Given the description of an element on the screen output the (x, y) to click on. 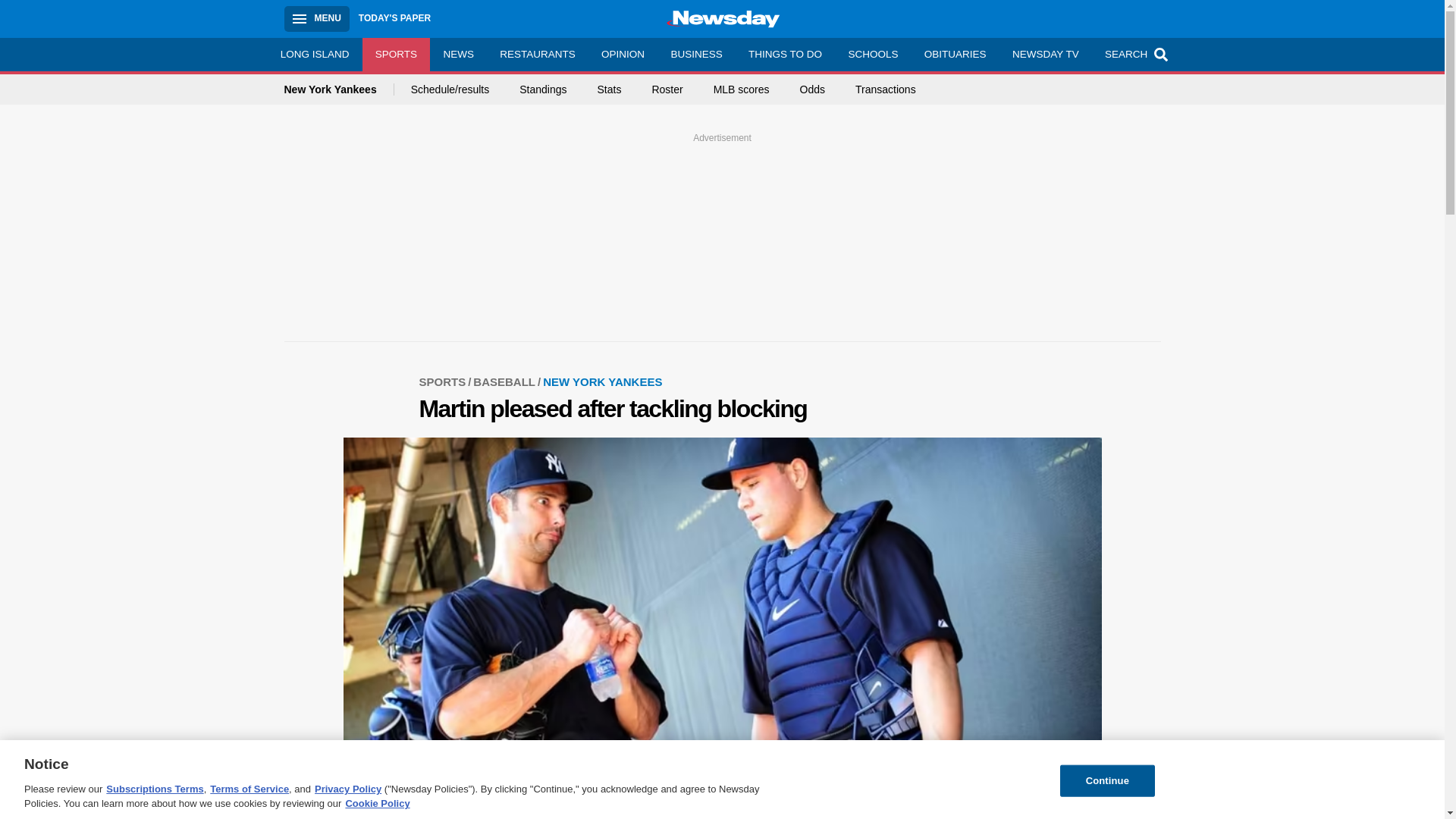
SPORTS (446, 381)
Standings (542, 89)
New York Yankees (338, 89)
TODAY'S PAPER (394, 18)
Stats (608, 89)
THINGS TO DO (784, 54)
Transactions (885, 89)
SPORTS (396, 54)
RESTAURANTS (537, 54)
OBITUARIES (954, 54)
